Given the description of an element on the screen output the (x, y) to click on. 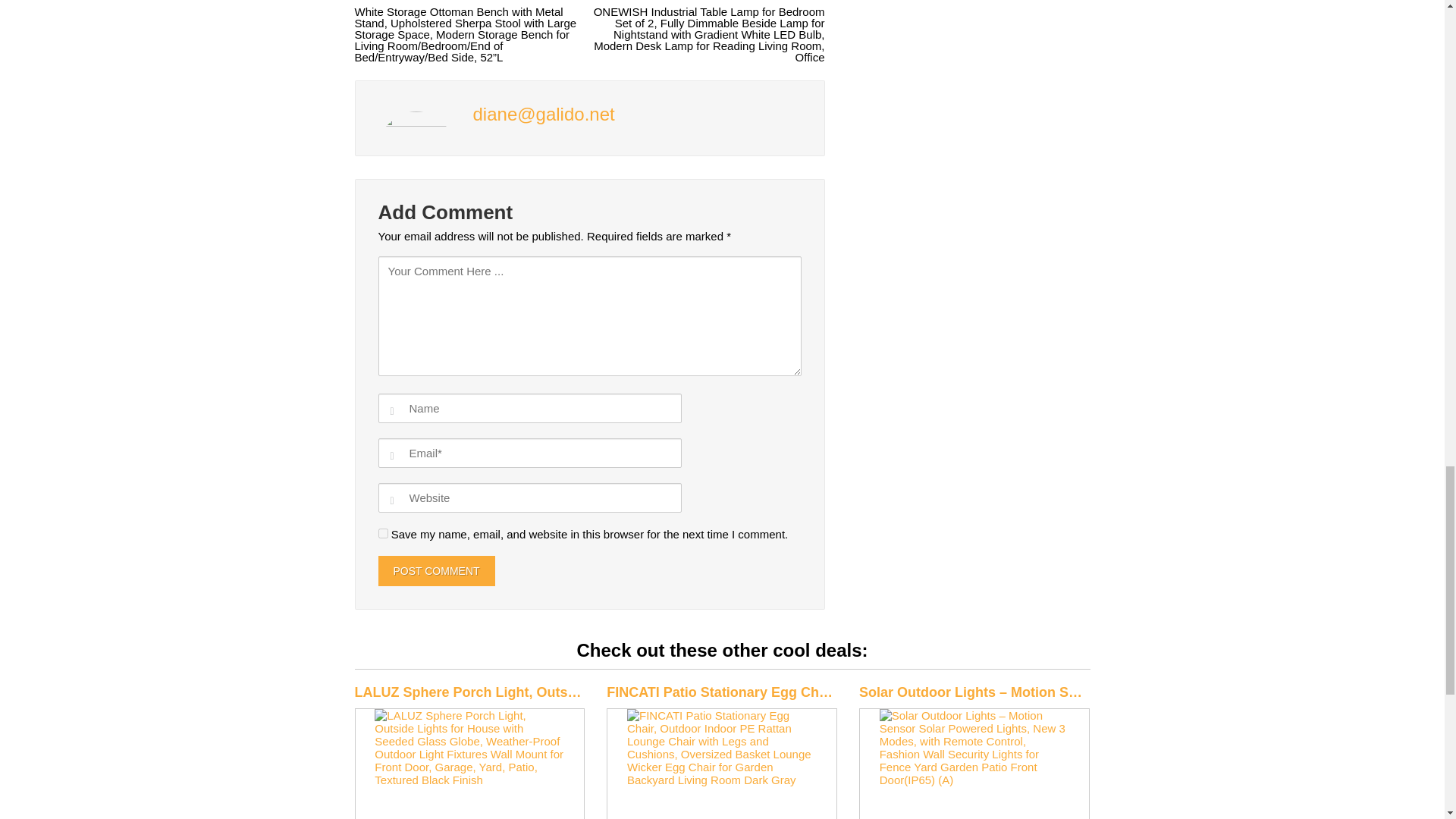
yes (382, 532)
Post Comment (436, 570)
Post Comment (436, 570)
